Given the description of an element on the screen output the (x, y) to click on. 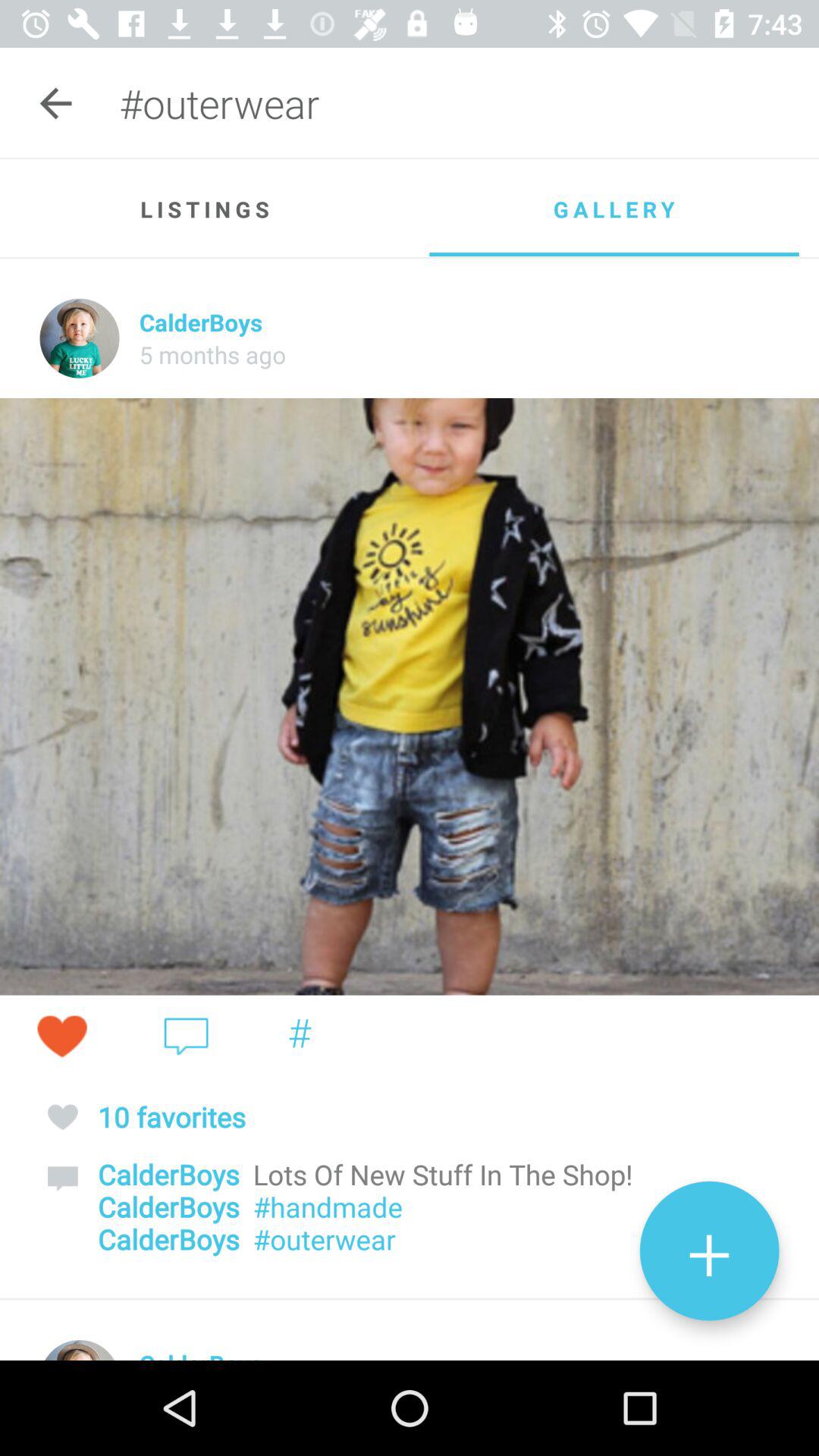
go to comment button (185, 1036)
